Given the description of an element on the screen output the (x, y) to click on. 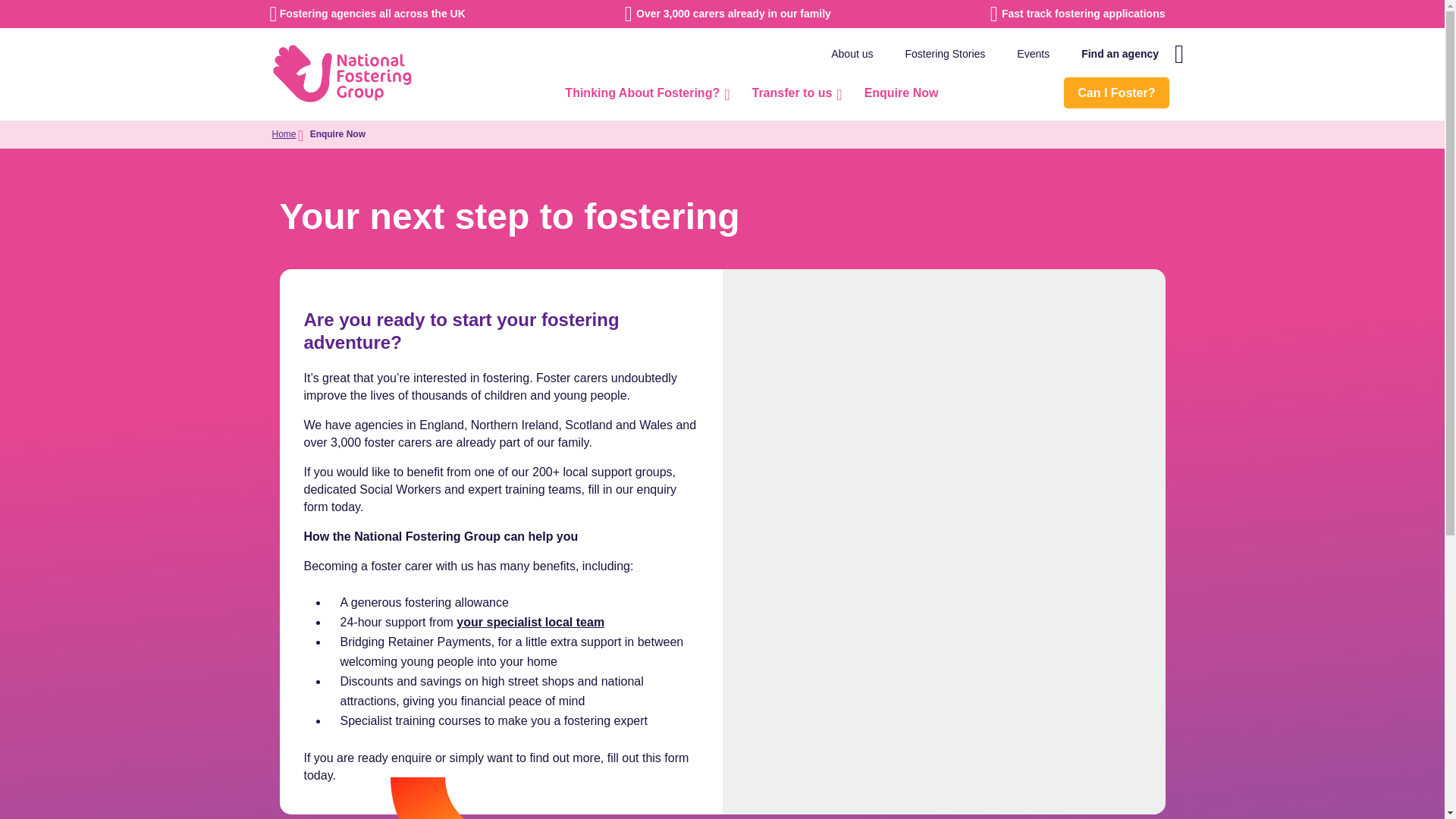
Find an agency (1119, 53)
About us (851, 53)
Thinking About Fostering? (644, 92)
Home (282, 134)
Events (1033, 53)
Can I Foster? (1116, 92)
Enquire Now (901, 92)
Fostering Stories (945, 53)
your specialist local team (530, 621)
Transfer to us (794, 92)
